Given the description of an element on the screen output the (x, y) to click on. 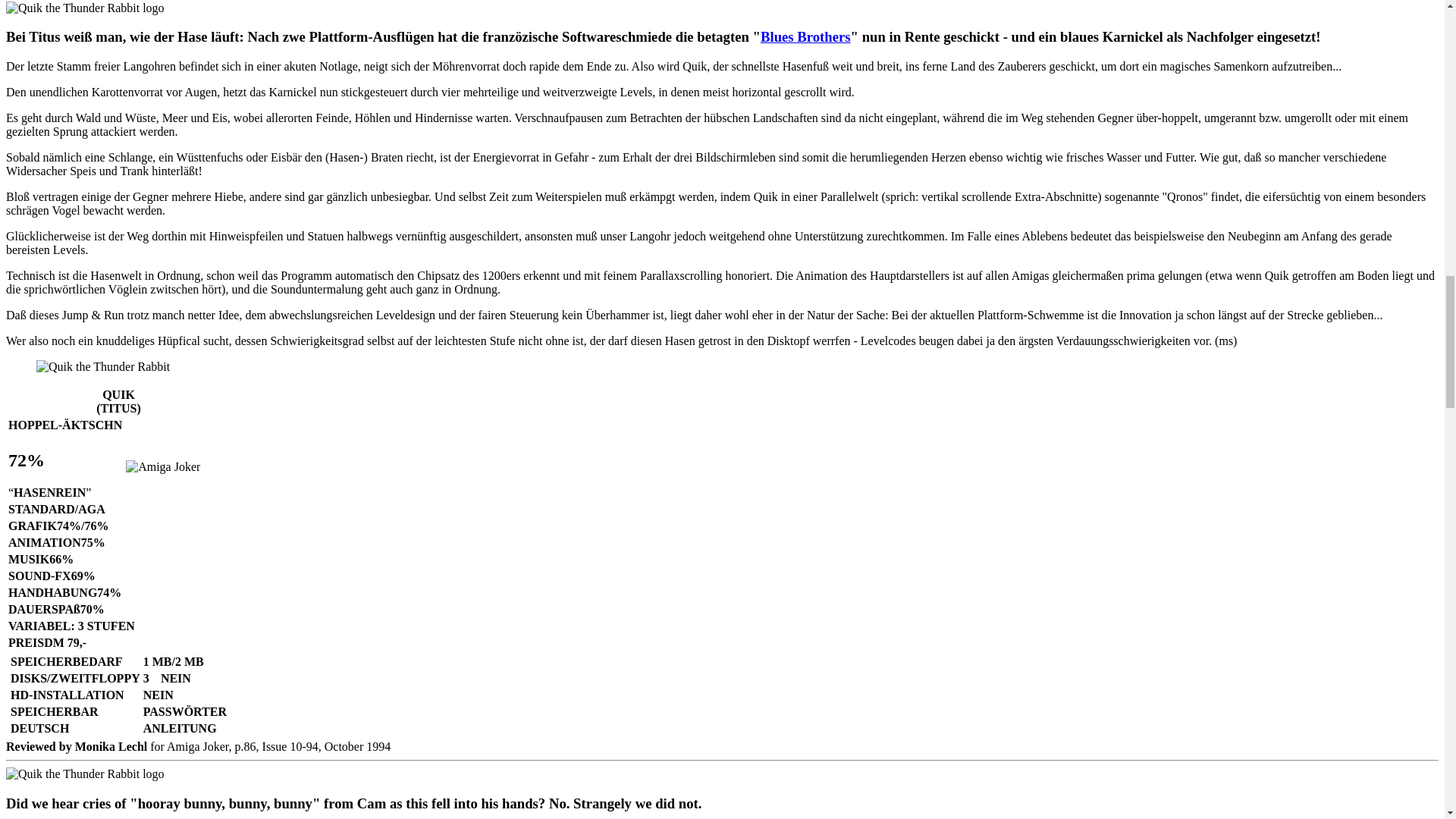
Blues Brothers (805, 36)
